Given the description of an element on the screen output the (x, y) to click on. 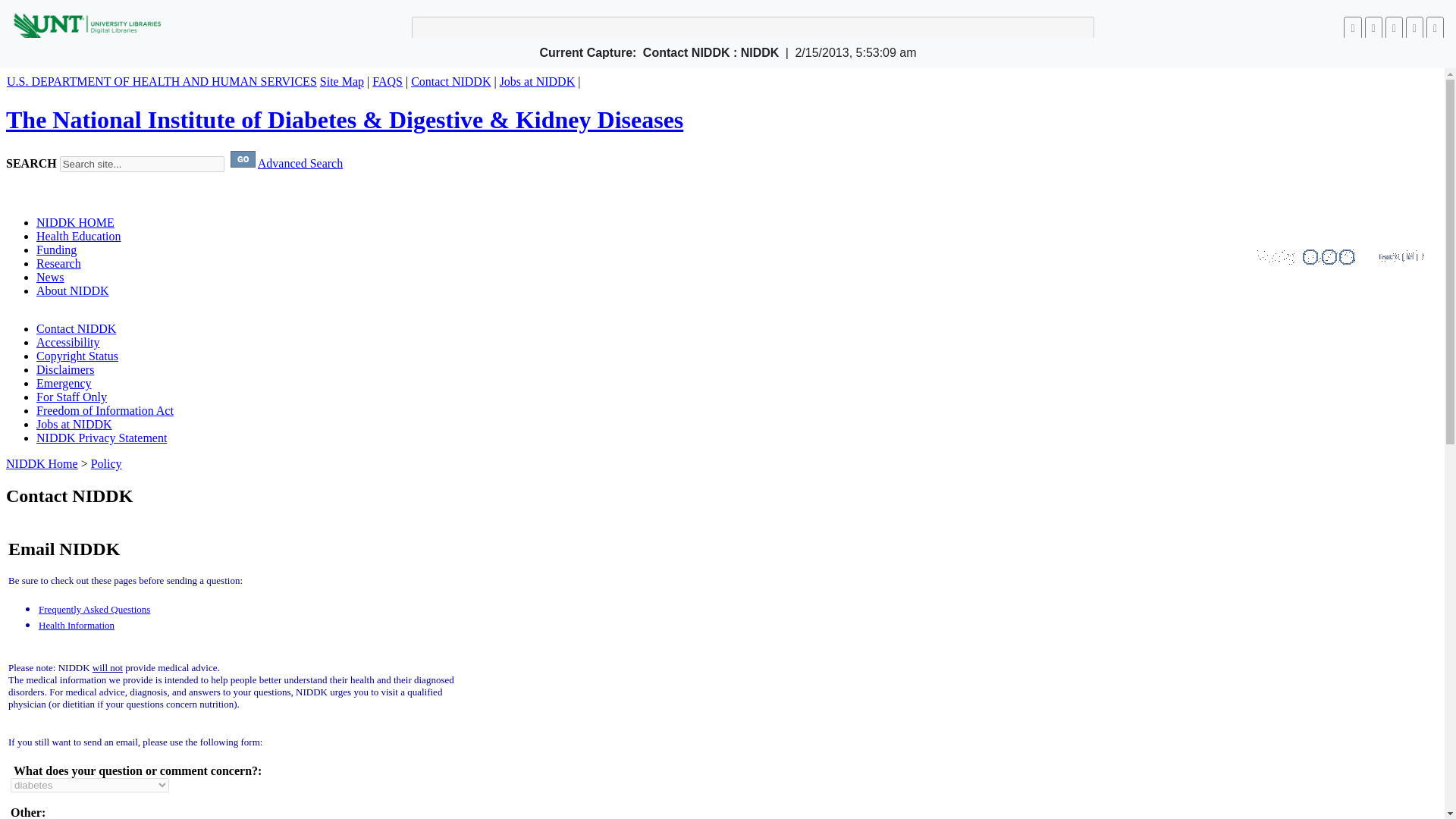
Show calendar (1394, 28)
Show timeline (1414, 28)
Print (1435, 28)
Next capture (1373, 28)
Previous capture (1352, 28)
